Given the description of an element on the screen output the (x, y) to click on. 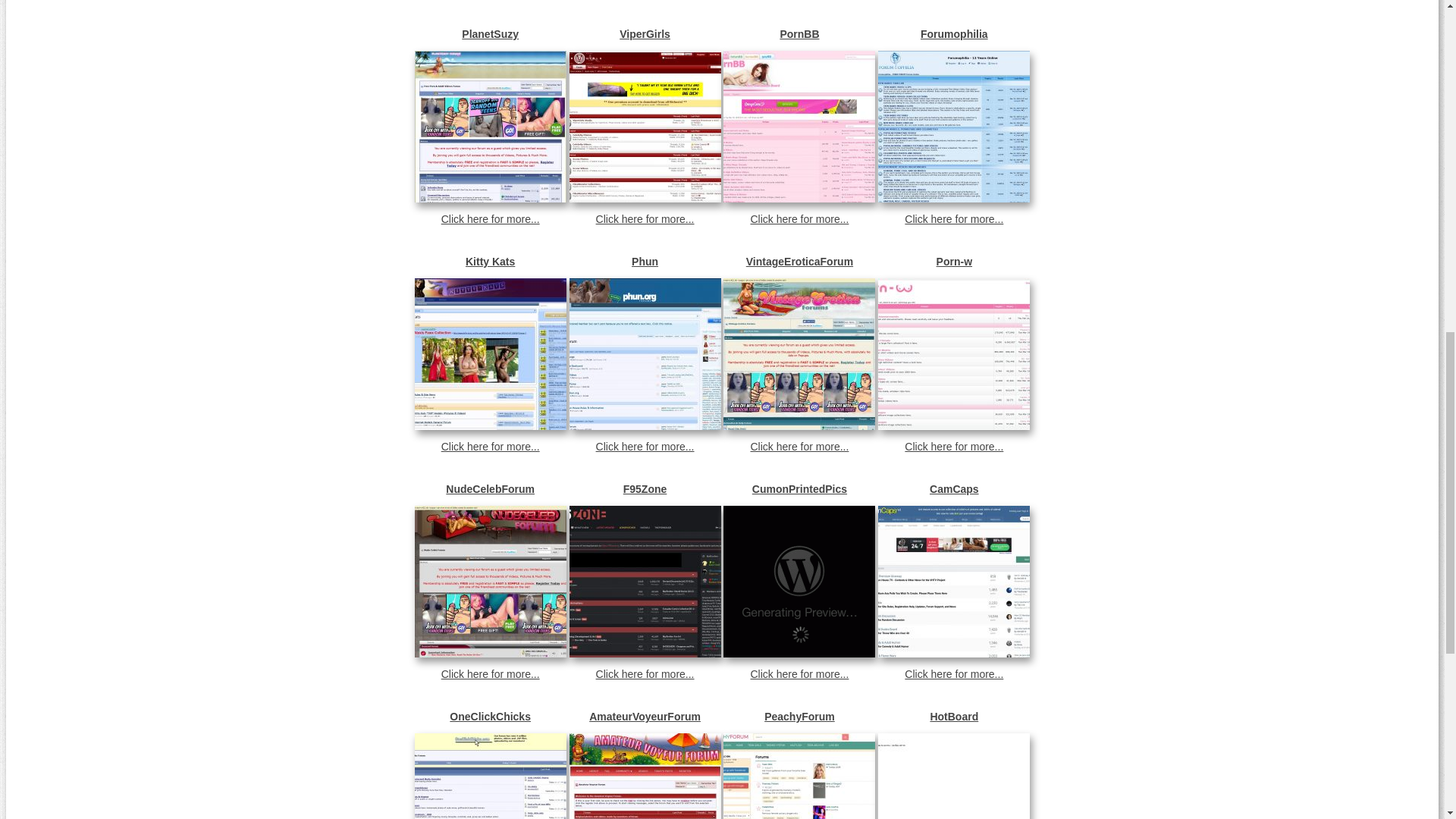
NudeCelebForum (490, 489)
VintageEroticaForum (799, 261)
F95Zone (644, 489)
Click here for more... (644, 674)
CumonPrintedPics (799, 489)
Click here for more... (798, 446)
Click here for more... (953, 218)
Click here for more... (798, 218)
Phun (644, 261)
Click here for more... (644, 446)
Forumophilia (953, 33)
PlanetSuzy (490, 33)
Click here for more... (798, 674)
CamCaps (953, 489)
PornBB (799, 33)
